Given the description of an element on the screen output the (x, y) to click on. 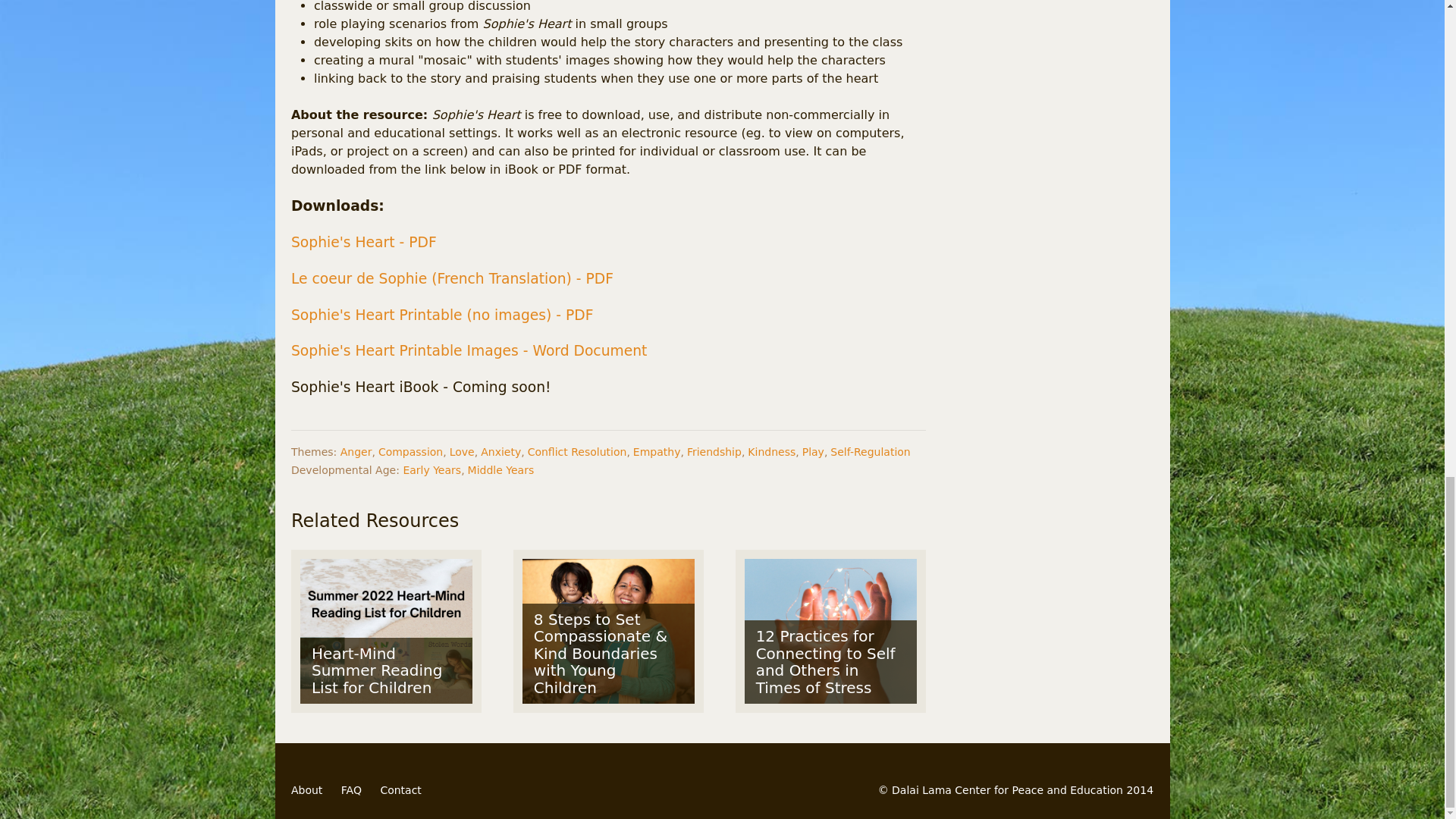
Self-Regulation (869, 451)
Sophie's Heart - PDF (363, 242)
Middle Years (500, 469)
Kindness (771, 451)
Sophie's Heart Printable Images - Word Document  (470, 350)
Empathy (657, 451)
Friendship (714, 451)
Anxiety (500, 451)
Conflict Resolution (577, 451)
Play (813, 451)
Early Years (432, 469)
Love (461, 451)
Compassion (410, 451)
Heart-Mind Summer Reading List for Children (385, 630)
Anger (356, 451)
